Given the description of an element on the screen output the (x, y) to click on. 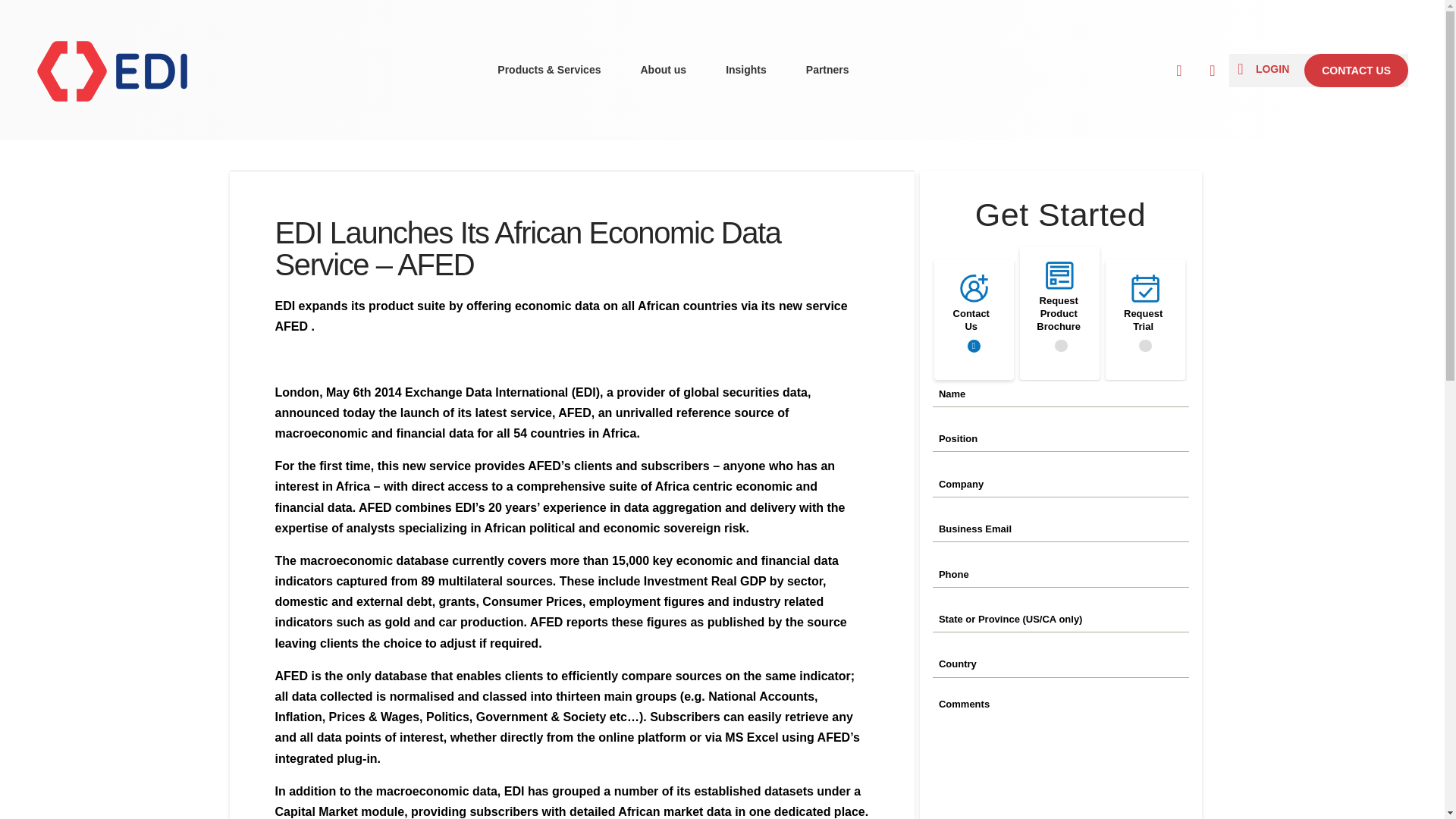
Request Product Brochure (1061, 345)
Request Trial (1145, 345)
Contact Us (972, 345)
